Given the description of an element on the screen output the (x, y) to click on. 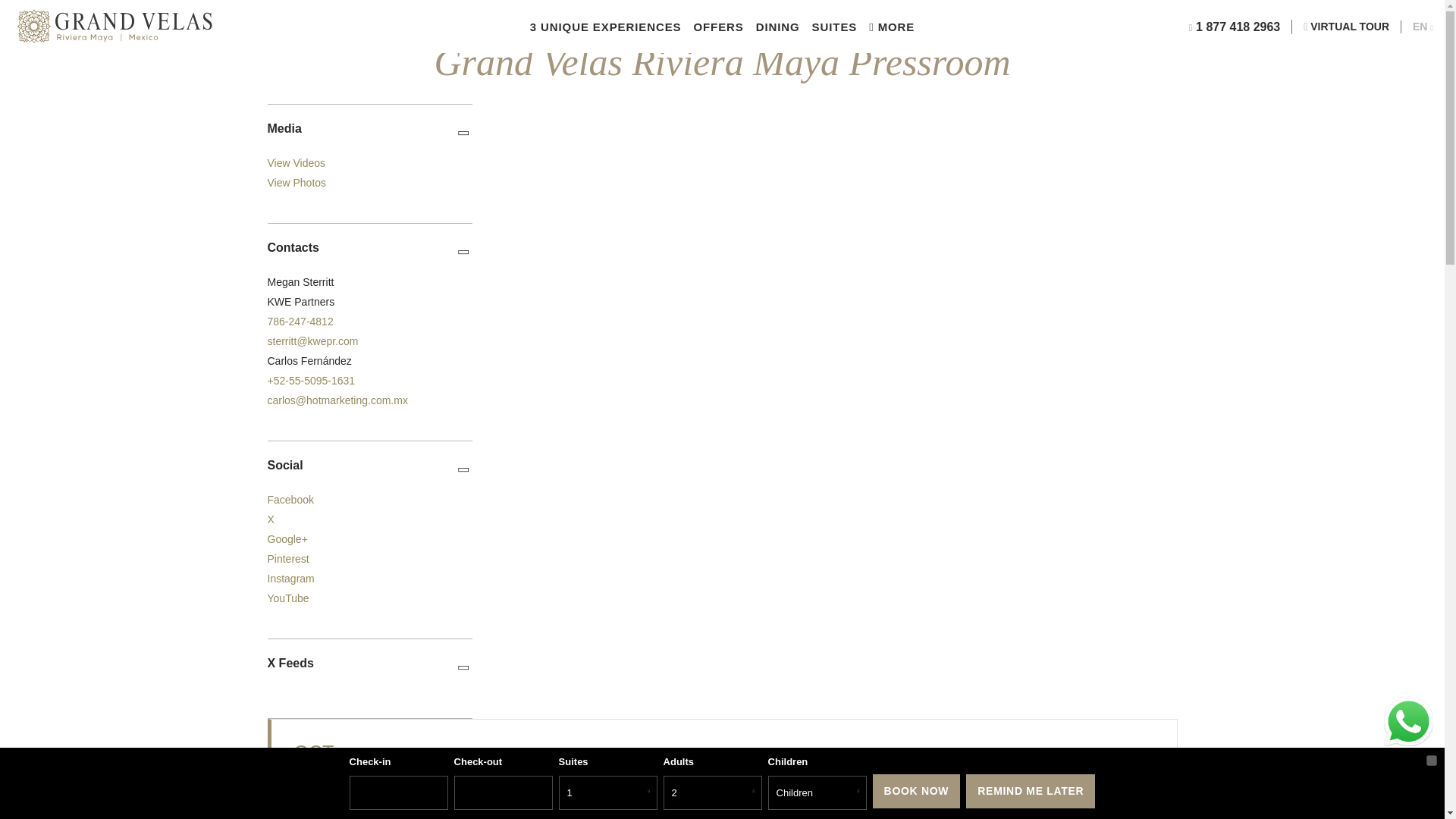
VIRTUAL TOUR (1346, 25)
DINING (777, 25)
SUITES (834, 25)
EN (1422, 25)
Facebook (289, 499)
YouTube (287, 598)
MORE (891, 25)
1 877 418 2963 (1234, 26)
1 (608, 792)
786-247-4812 (299, 321)
Pinterest (287, 558)
2 (712, 792)
Instagram (290, 578)
View Videos (295, 162)
3 UNIQUE EXPERIENCES (605, 25)
